Given the description of an element on the screen output the (x, y) to click on. 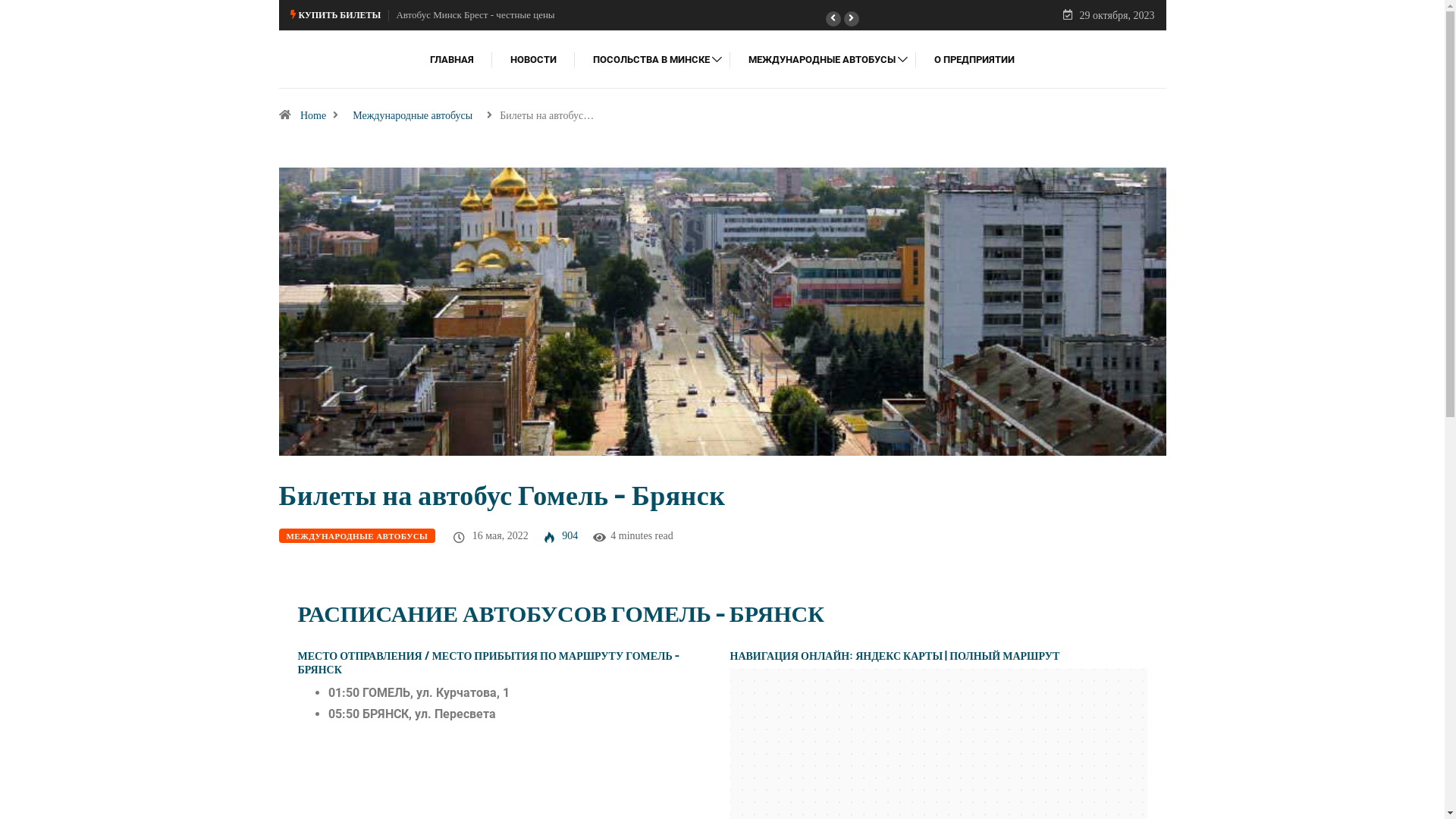
Cloudflare Element type: text (798, 799)
